Given the description of an element on the screen output the (x, y) to click on. 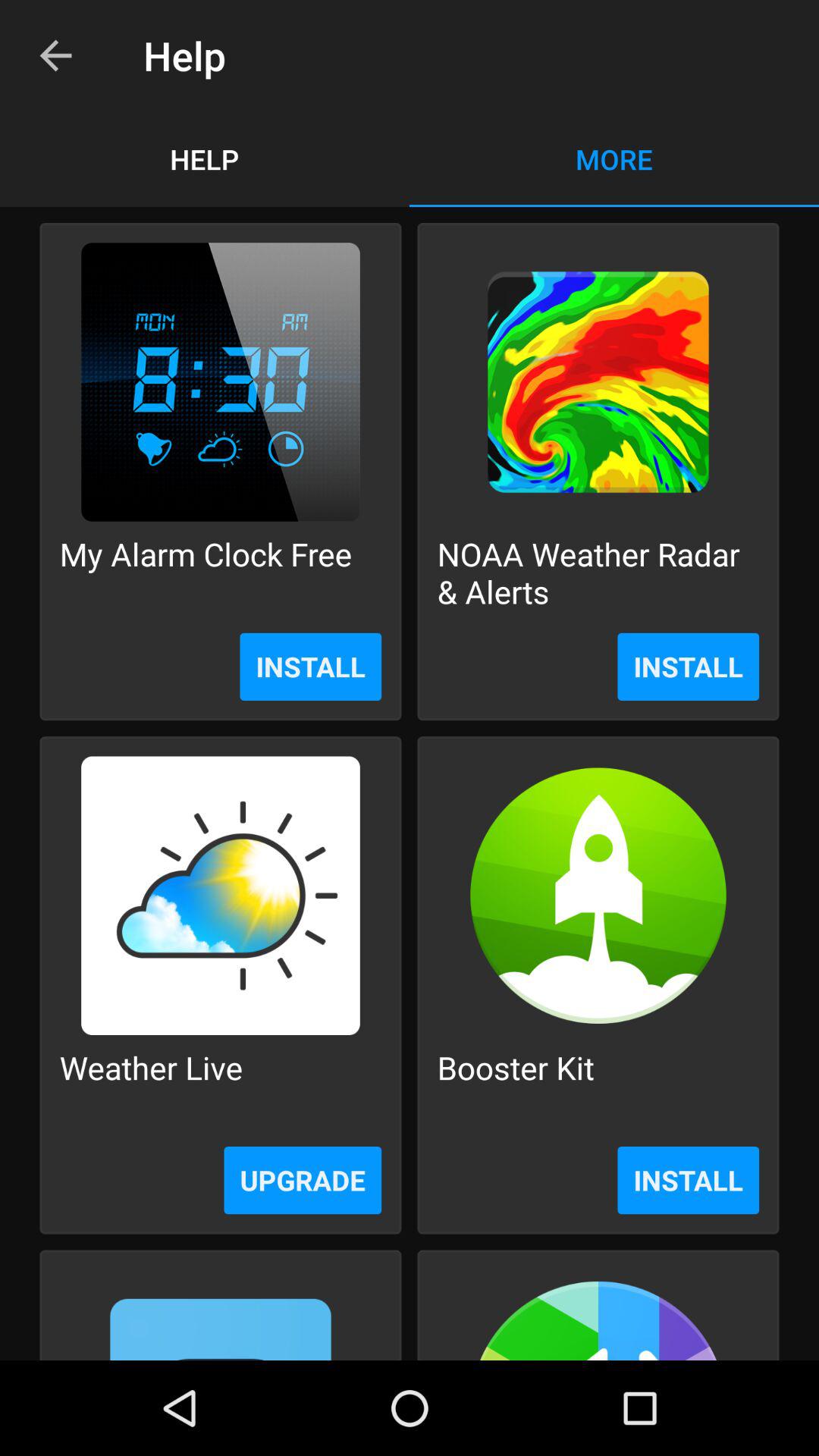
select the icon next to install item (302, 1180)
